Given the description of an element on the screen output the (x, y) to click on. 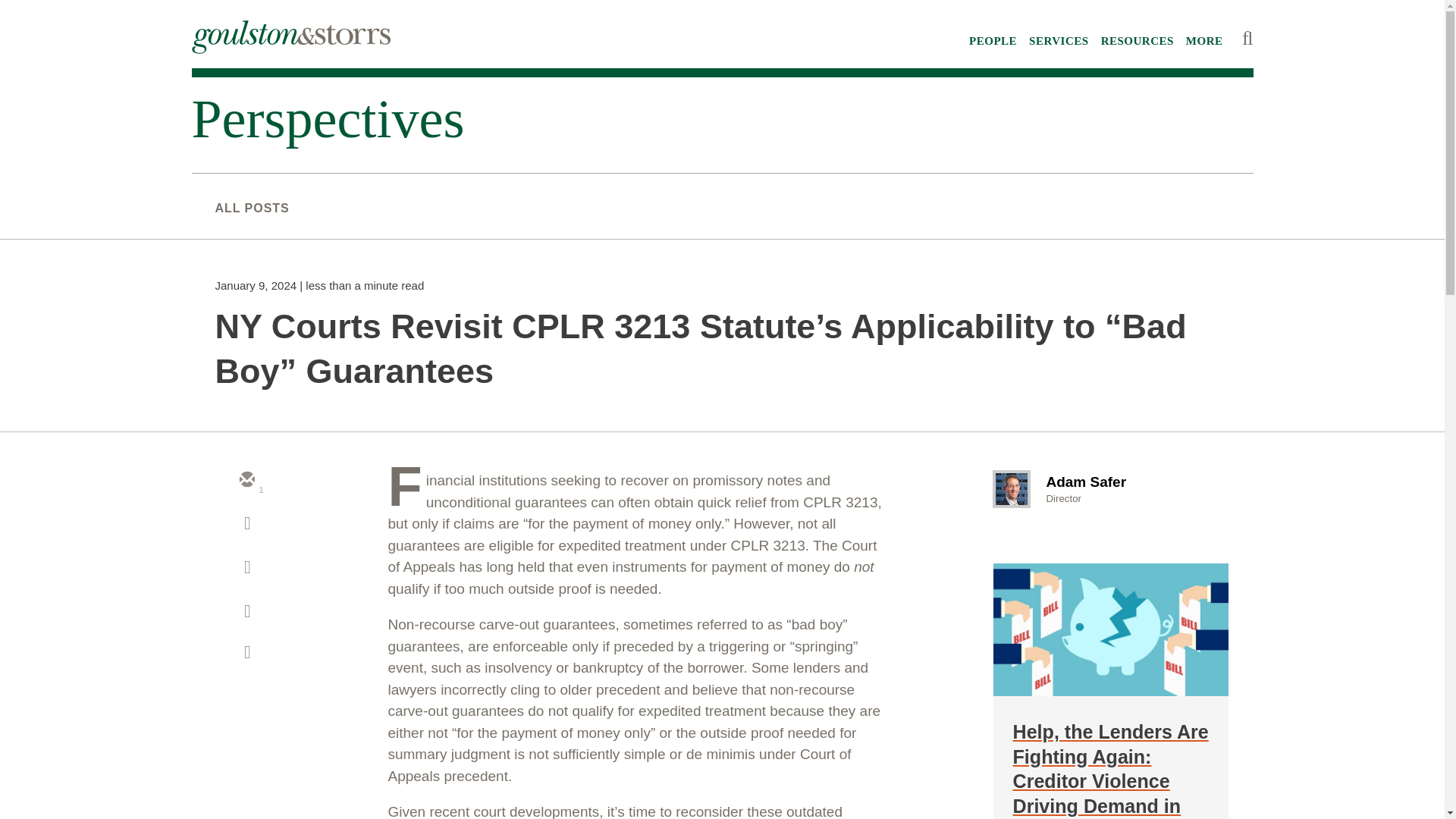
RESOURCES (1136, 40)
SERVICES (1058, 40)
PEOPLE (992, 40)
MORE (1203, 40)
